Given the description of an element on the screen output the (x, y) to click on. 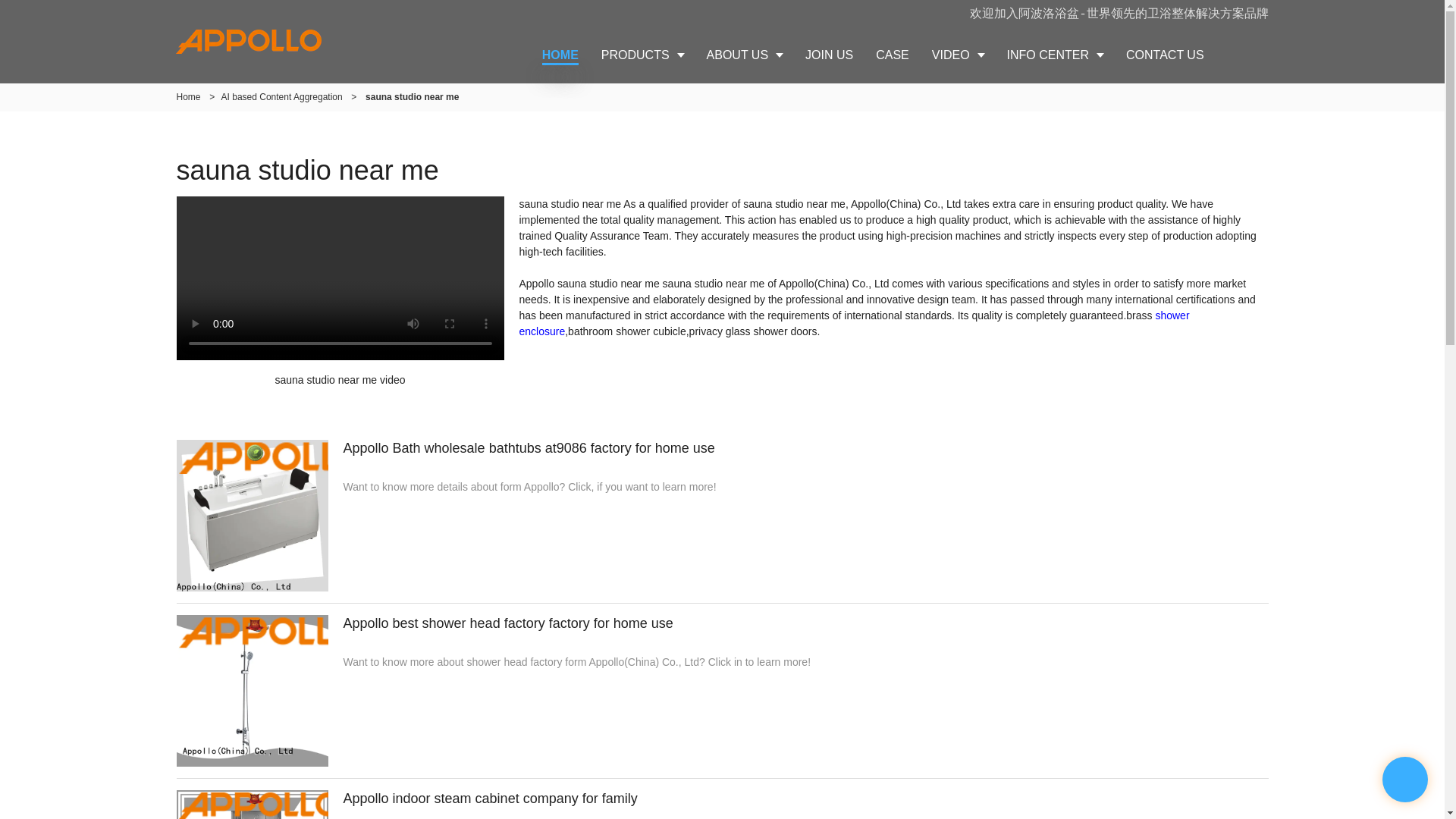
ABOUT US (744, 55)
PRODUCTS (642, 55)
CASE (892, 55)
HOME (560, 55)
JOIN US (828, 55)
AI based Content Aggregation (281, 96)
VIDEO (957, 55)
shower enclosure (853, 323)
CONTACT US (1165, 55)
INFO CENTER (1055, 55)
